Given the description of an element on the screen output the (x, y) to click on. 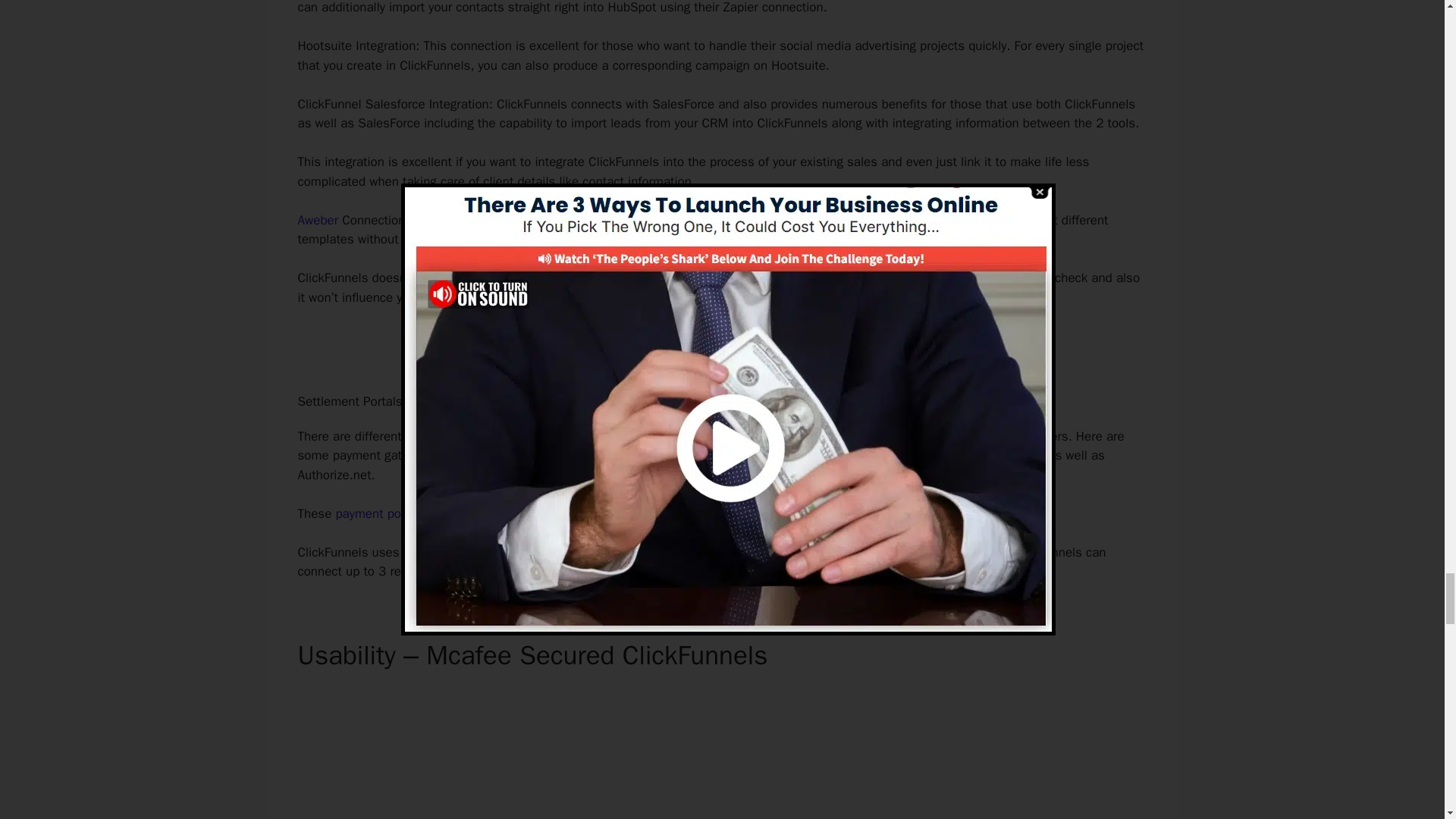
Paypal (1022, 455)
payment portals (380, 513)
Aweber (317, 220)
View Full Integrations (721, 350)
payment gateways (772, 571)
Stripe (978, 455)
